Given the description of an element on the screen output the (x, y) to click on. 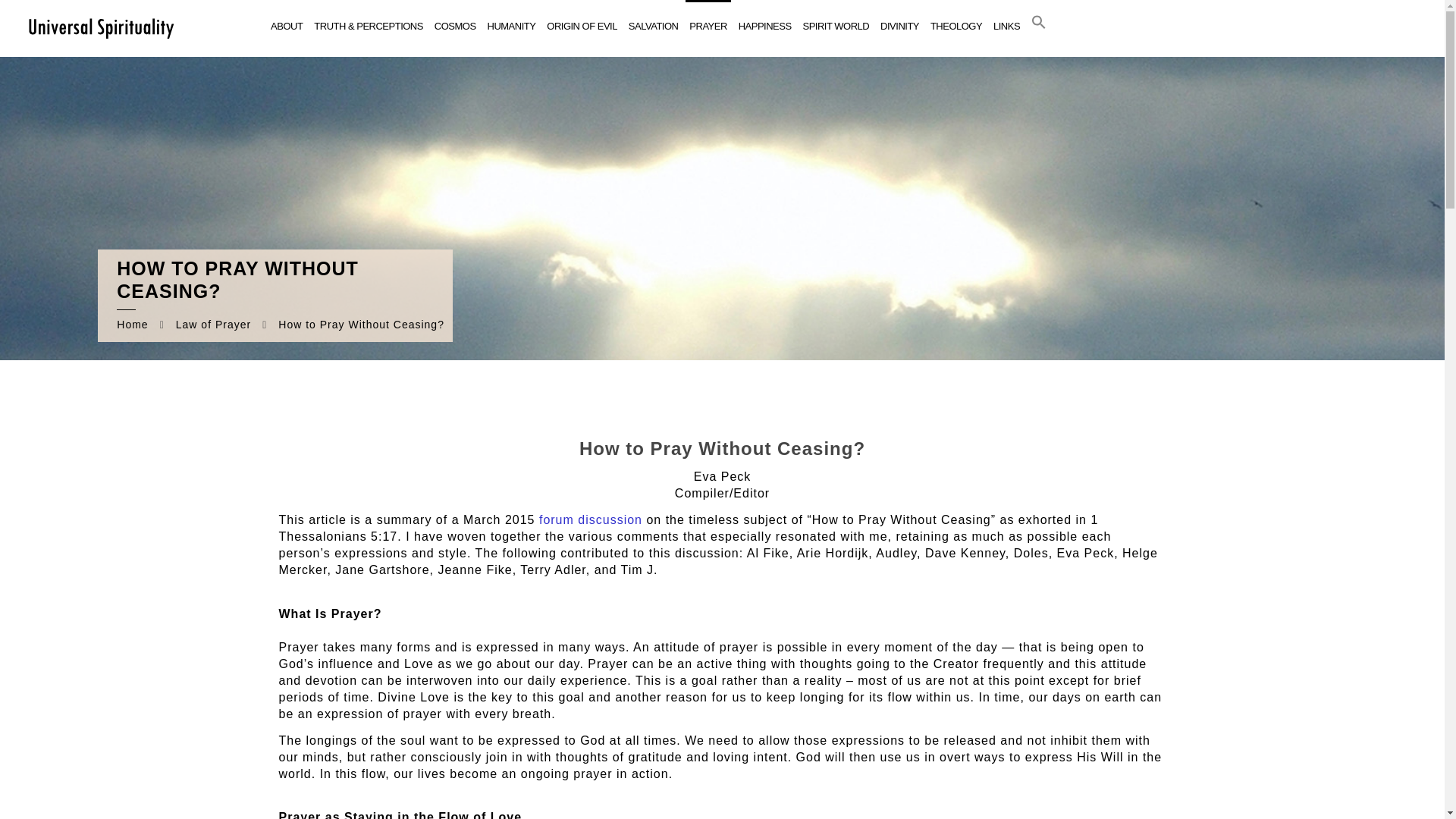
HUMANITY (511, 26)
My Spiritual Journey (100, 26)
COSMOS (455, 26)
Law of Prayer (213, 324)
